Given the description of an element on the screen output the (x, y) to click on. 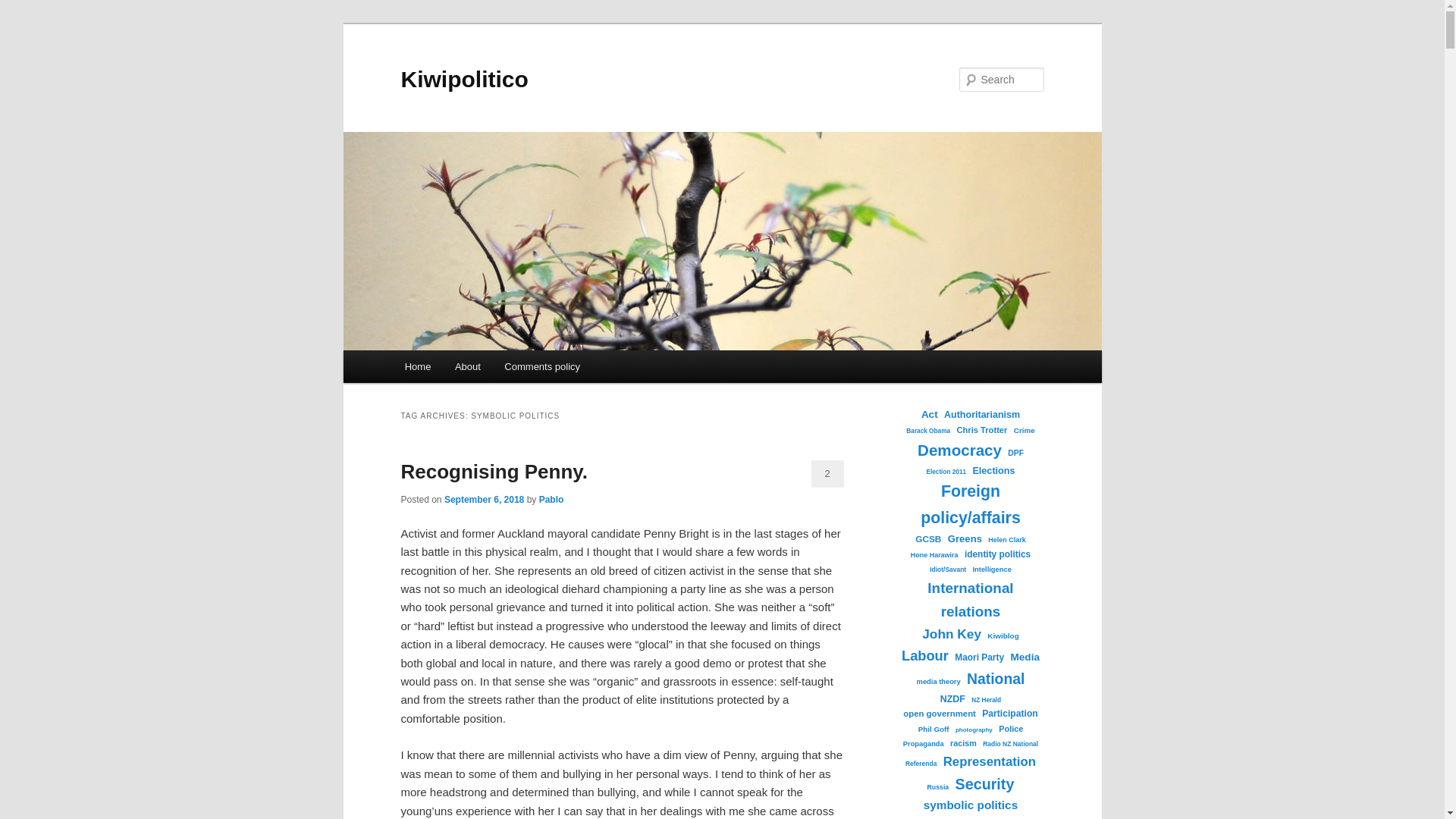
Recognising Penny. (494, 471)
14:26 (484, 499)
Kiwipolitico (463, 78)
Home (417, 366)
2 (827, 473)
About (467, 366)
Comments policy (542, 366)
View all posts by Pablo (551, 499)
September 6, 2018 (484, 499)
